Given the description of an element on the screen output the (x, y) to click on. 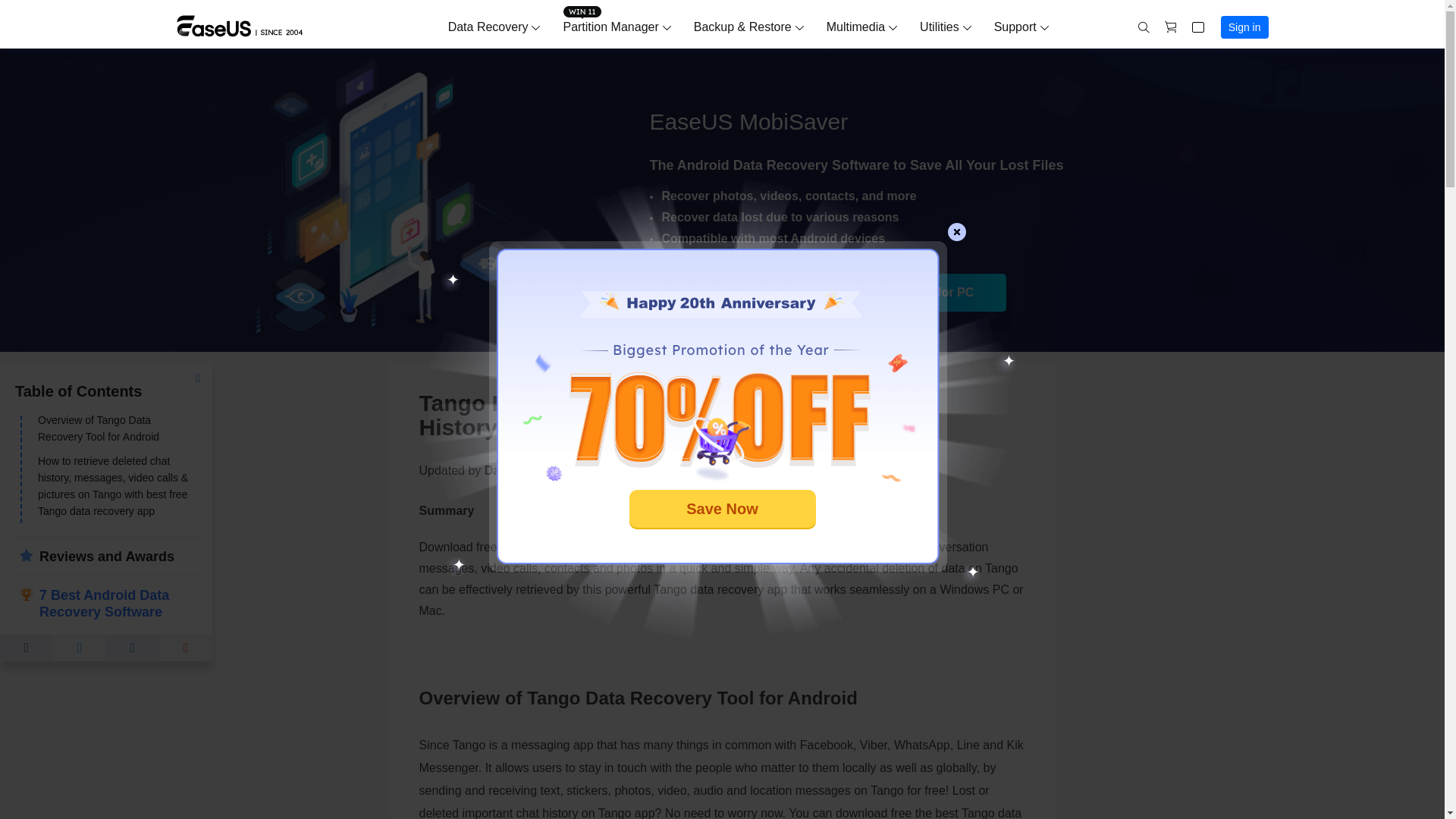
Data Recovery (488, 26)
Partition Manager (609, 26)
